Given the description of an element on the screen output the (x, y) to click on. 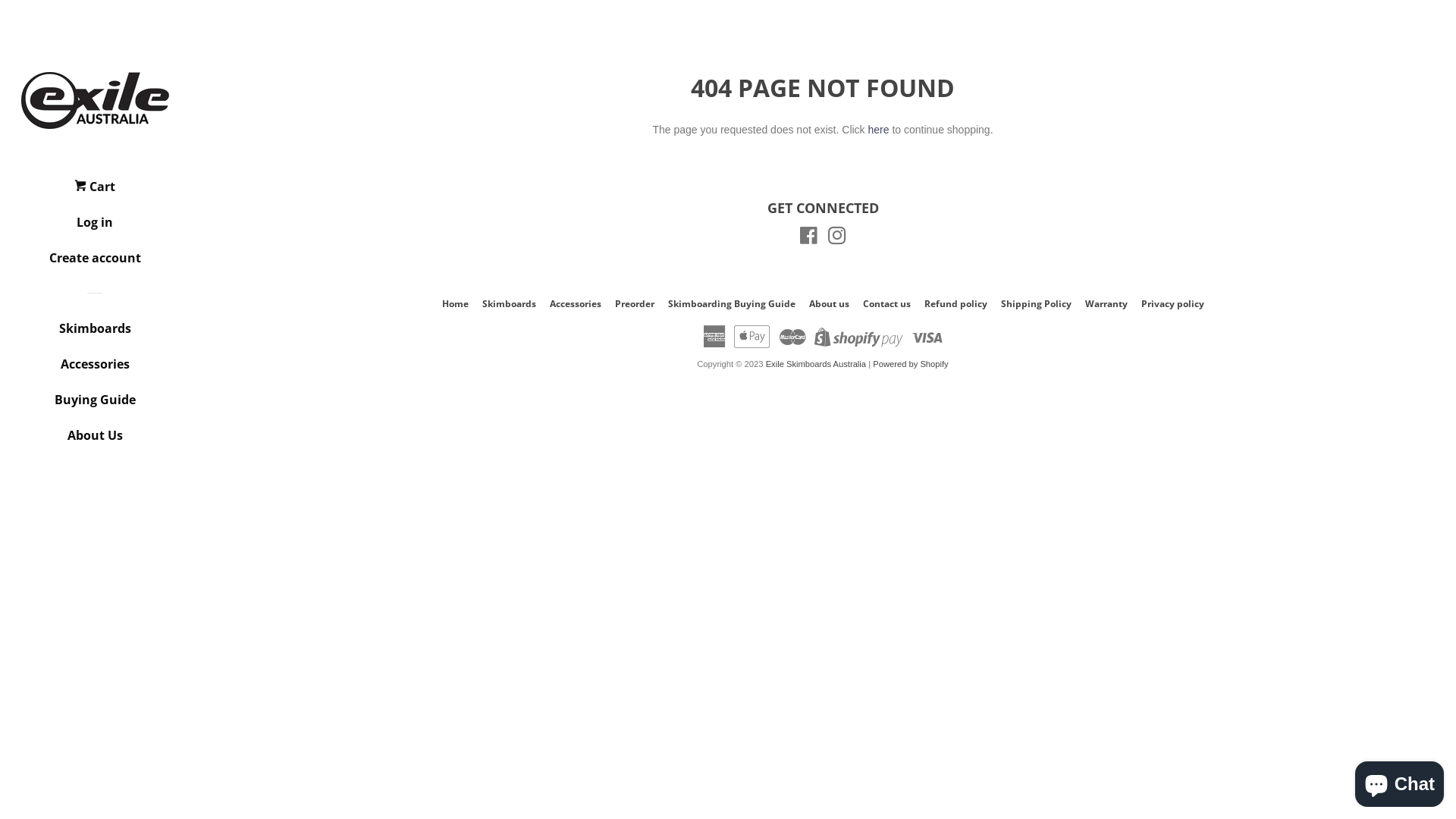
Create account Element type: text (94, 263)
About Us Element type: text (94, 440)
Contact us Element type: text (886, 303)
About us Element type: text (828, 303)
Accessories Element type: text (94, 369)
Warranty Element type: text (1105, 303)
Skimboards Element type: text (509, 303)
Instagram Element type: text (837, 238)
Privacy policy Element type: text (1171, 303)
Skimboarding Buying Guide Element type: text (730, 303)
Shopify online store chat Element type: hover (1399, 780)
Close Element type: text (1406, 100)
Buying Guide Element type: text (94, 405)
Accessories Element type: text (574, 303)
Refund policy Element type: text (954, 303)
Skimboards Element type: text (94, 333)
Shipping Policy Element type: text (1036, 303)
Preorder Element type: text (633, 303)
Cart Element type: text (94, 192)
Home Element type: text (454, 303)
Exile Skimboards Australia Element type: text (815, 363)
Powered by Shopify Element type: text (910, 363)
Facebook Element type: text (808, 238)
here Element type: text (877, 129)
Log in Element type: text (94, 227)
